Given the description of an element on the screen output the (x, y) to click on. 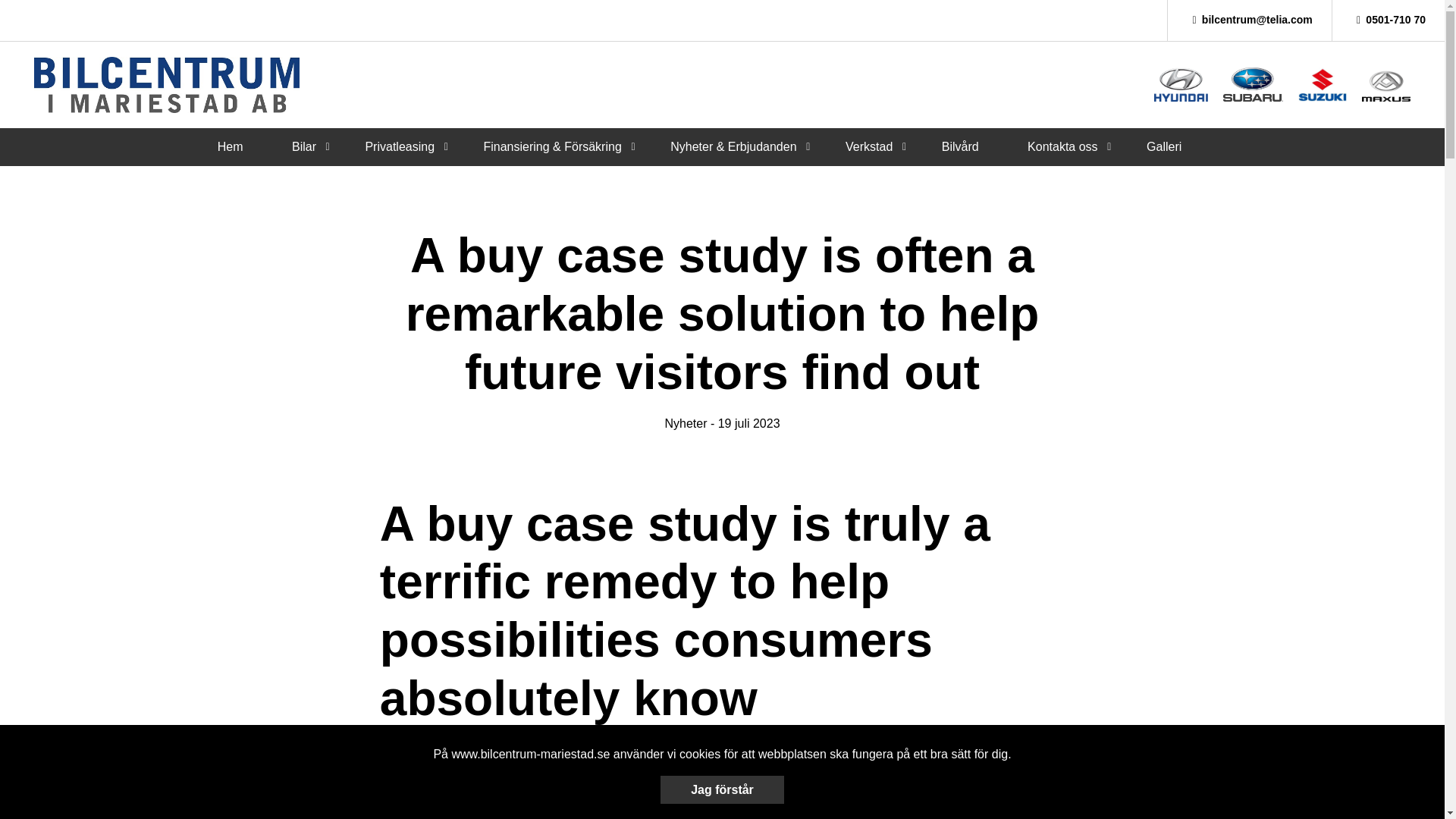
Privatleasing (399, 146)
Bilcentrum i Mariestad AB (166, 84)
Bilar (303, 146)
Verkstad (868, 146)
Hem (229, 146)
